Given the description of an element on the screen output the (x, y) to click on. 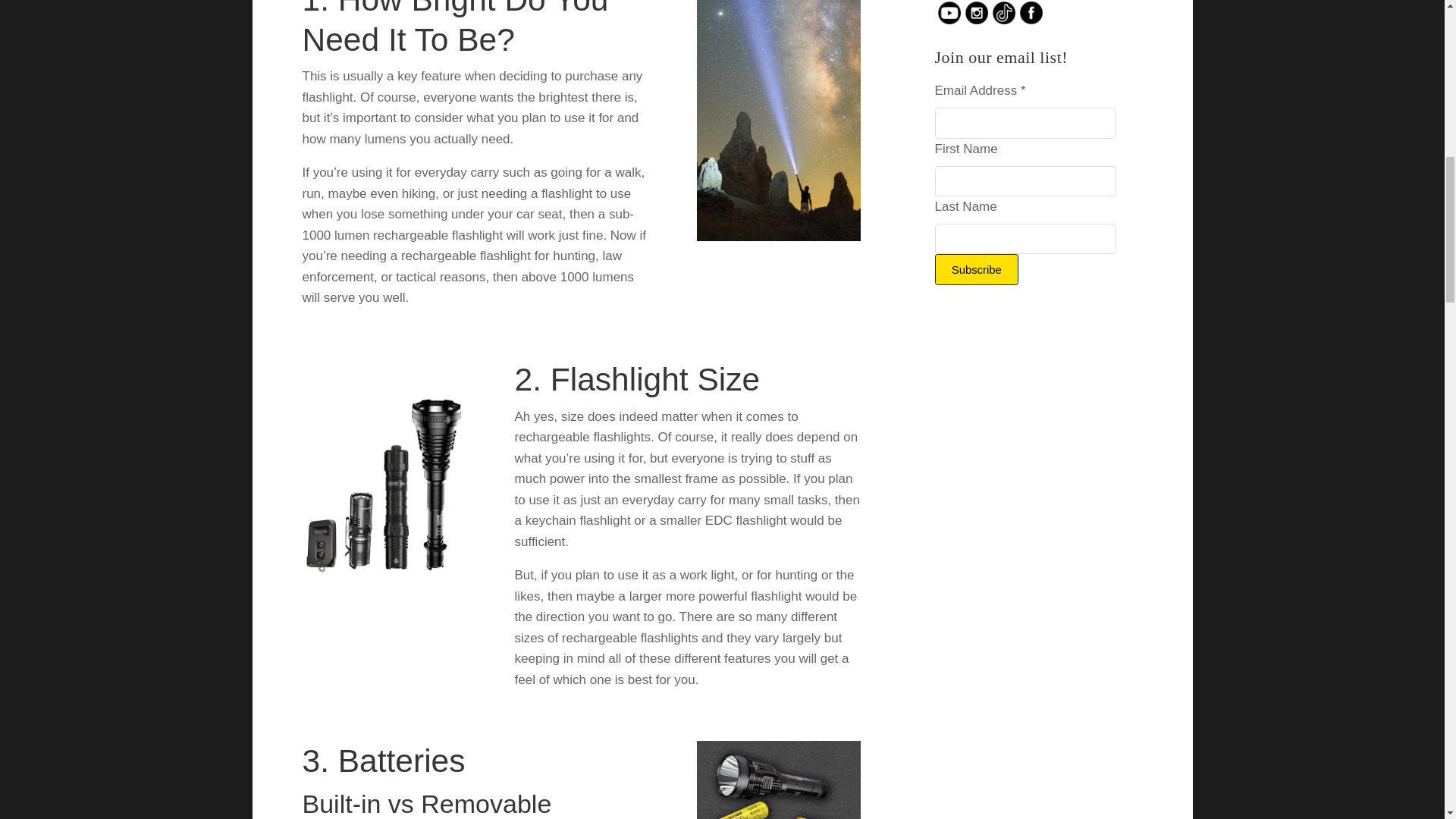
Subscribe (975, 269)
instagram (976, 11)
facebook (1031, 11)
tiktok (1003, 12)
youtube (949, 11)
tiktok (1003, 11)
instagram (975, 12)
youtube (948, 12)
facebook (1031, 12)
